Given the description of an element on the screen output the (x, y) to click on. 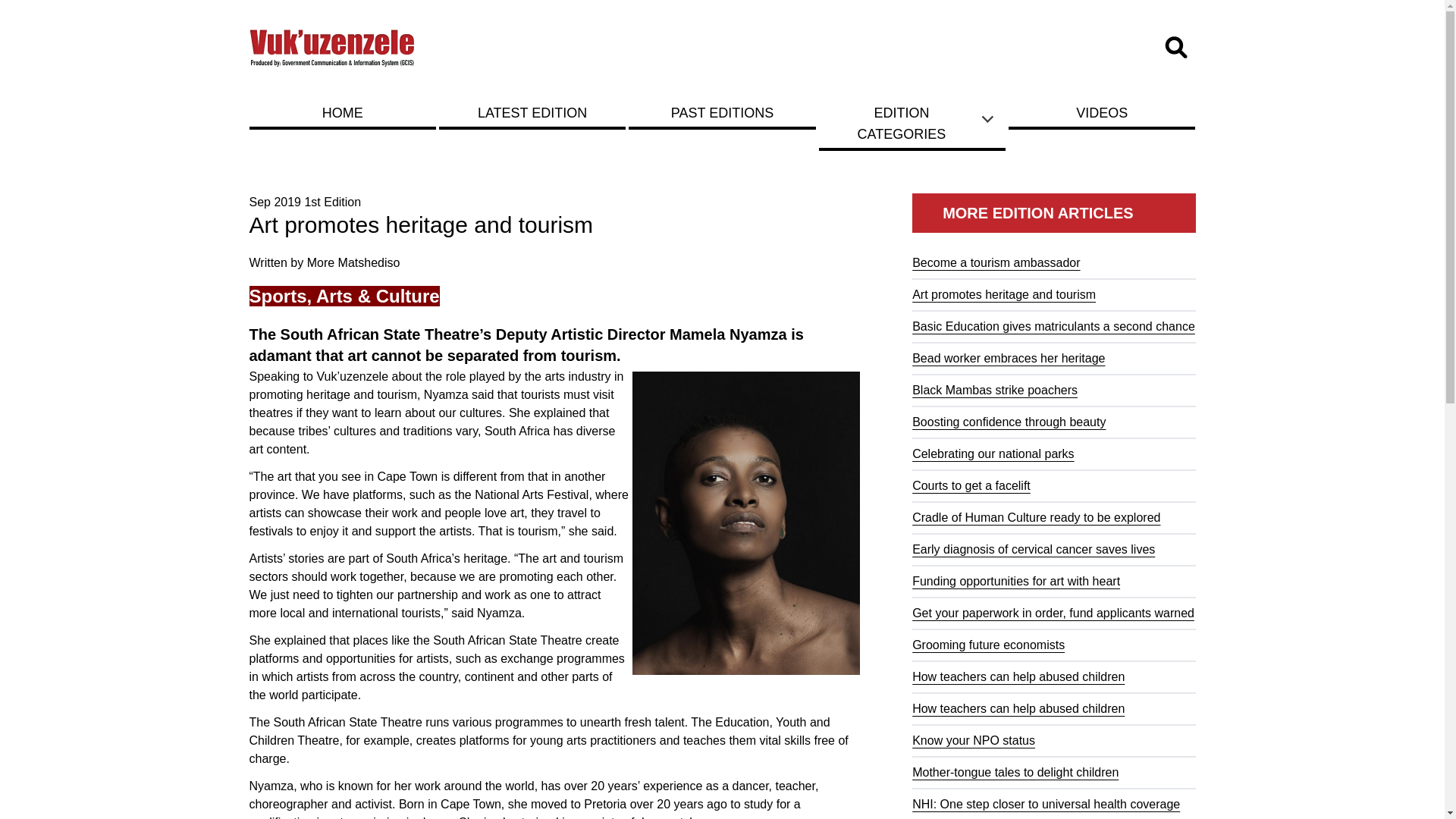
Redirect to the latest Book (532, 112)
Home (331, 47)
PAST EDITIONS (721, 112)
HOME (341, 112)
LATEST EDITION (532, 112)
VIDEOS (1102, 112)
